Given the description of an element on the screen output the (x, y) to click on. 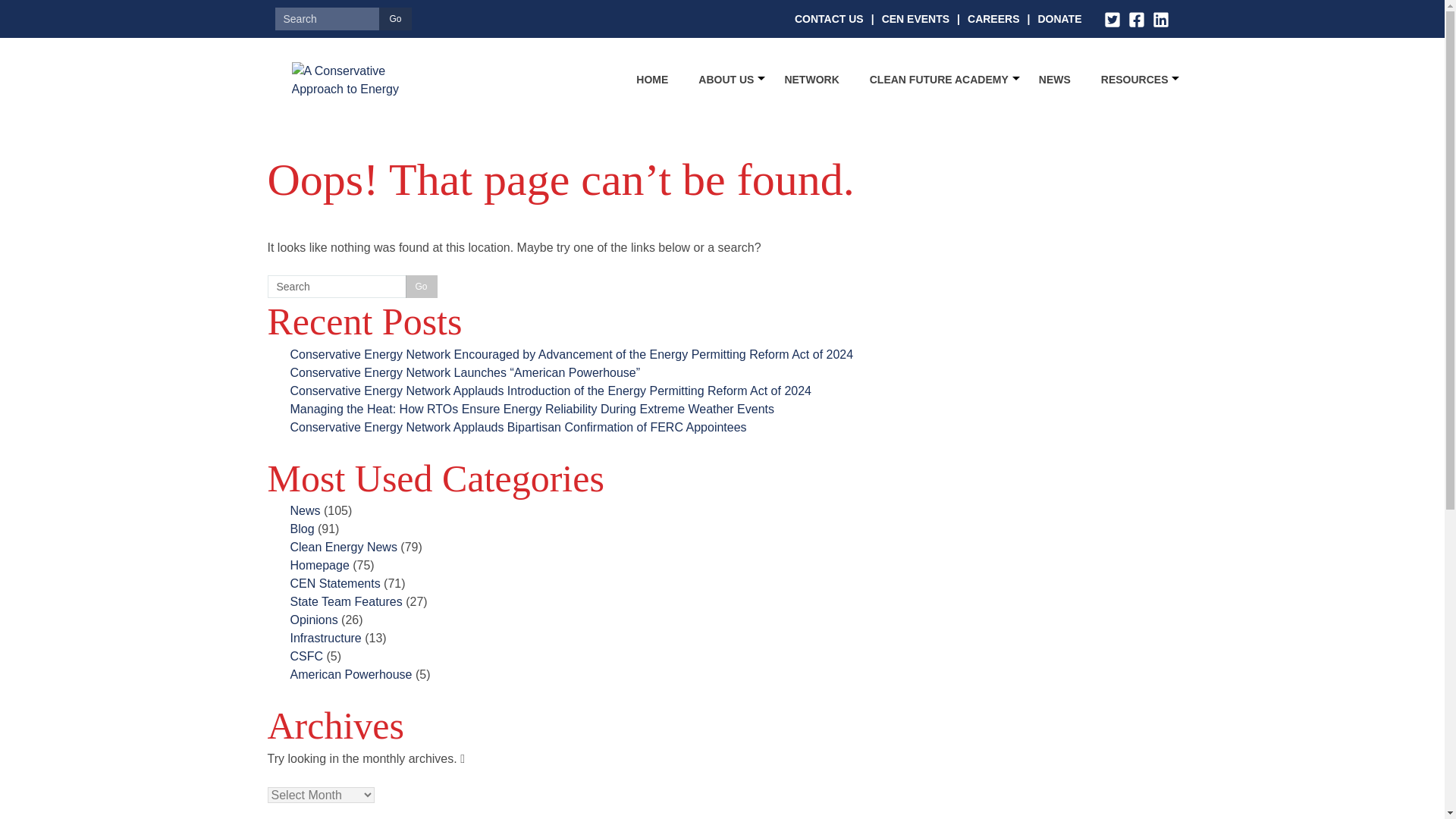
Go (420, 286)
NEWS (1054, 79)
Go (394, 18)
DONATE (1058, 18)
RESOURCES (1134, 79)
CONTACT US (828, 18)
HOME (652, 79)
CEN EVENTS (915, 18)
NETWORK (811, 79)
CLEAN FUTURE ACADEMY (939, 79)
ABOUT US (726, 79)
CAREERS (993, 18)
